Given the description of an element on the screen output the (x, y) to click on. 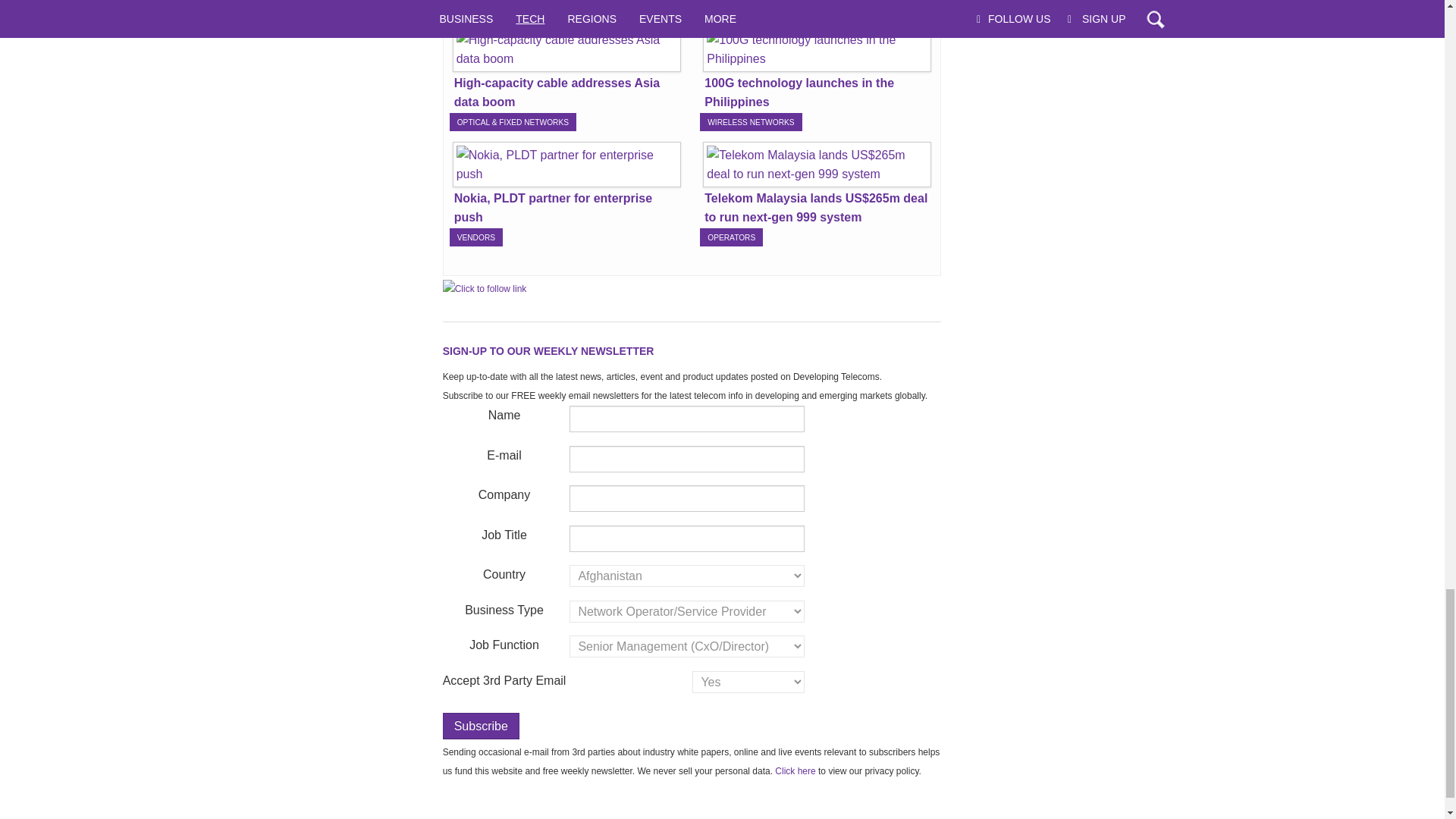
Subscribe (480, 725)
